Given the description of an element on the screen output the (x, y) to click on. 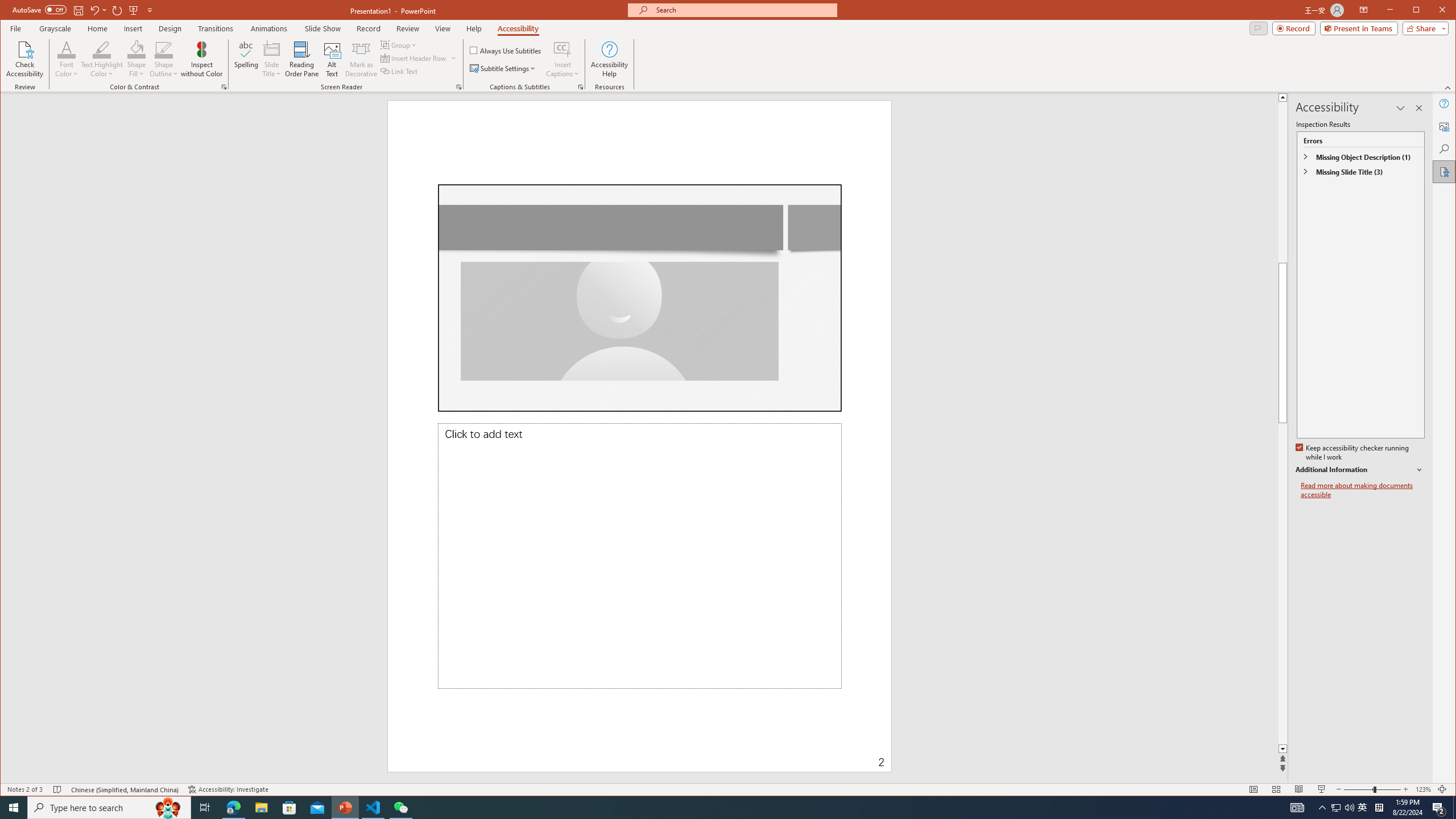
Link Text (399, 70)
Spelling... (246, 59)
Accessibility Help (608, 59)
Action Center, 2 new notifications (1439, 807)
Captions & Subtitles (580, 86)
Always Use Subtitles (505, 49)
